Given the description of an element on the screen output the (x, y) to click on. 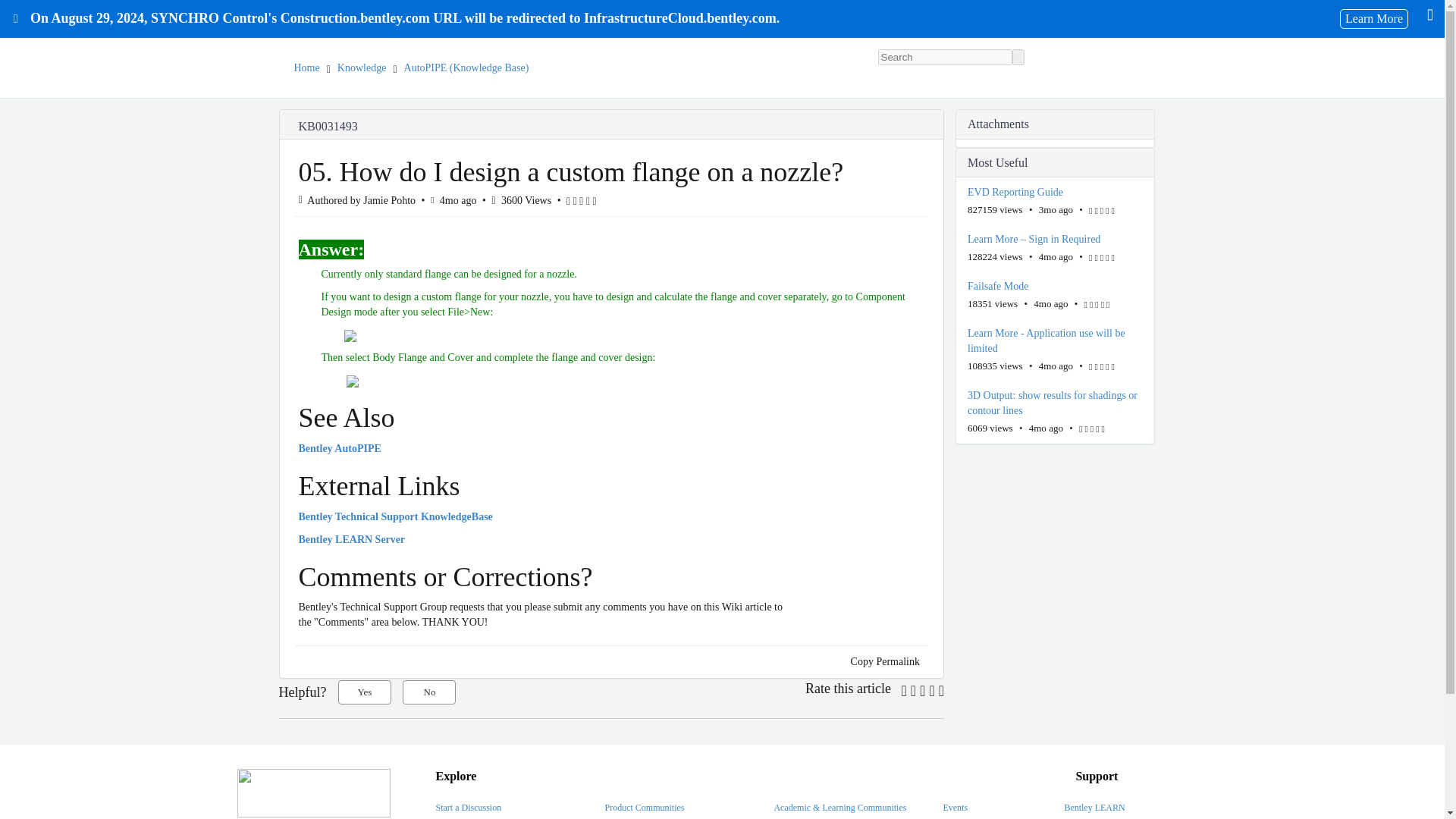
No (429, 692)
Start a Discussion (467, 807)
LEARN Server (352, 539)
3D Output: show results for shadings or contour lines (1055, 403)
Learn More (1373, 18)
Learn More - Application use will be limited (1055, 340)
Failsafe Mode (1055, 286)
Knowledge (362, 68)
KnowledgeBase (395, 516)
Events (955, 807)
